Given the description of an element on the screen output the (x, y) to click on. 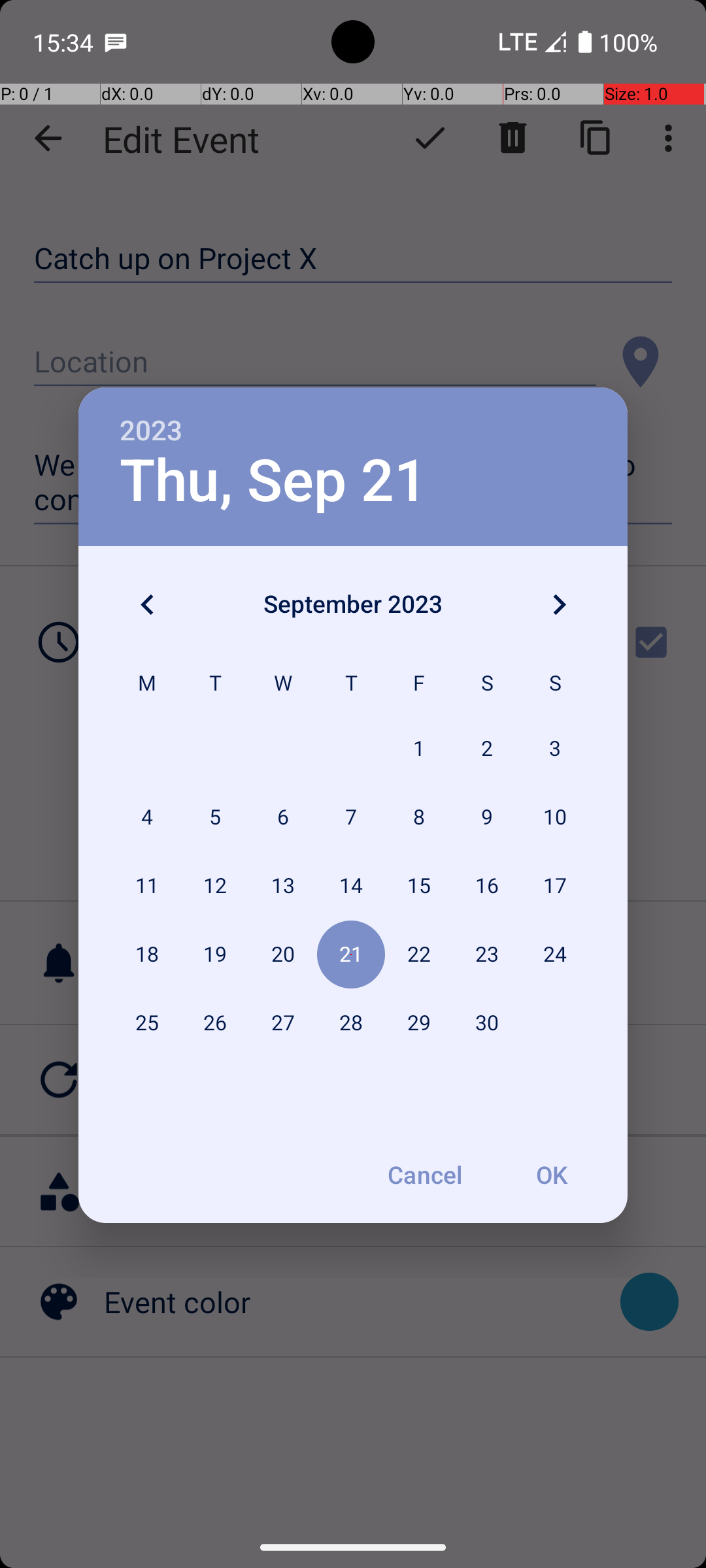
Thu, Sep 21 Element type: android.widget.TextView (273, 480)
